Given the description of an element on the screen output the (x, y) to click on. 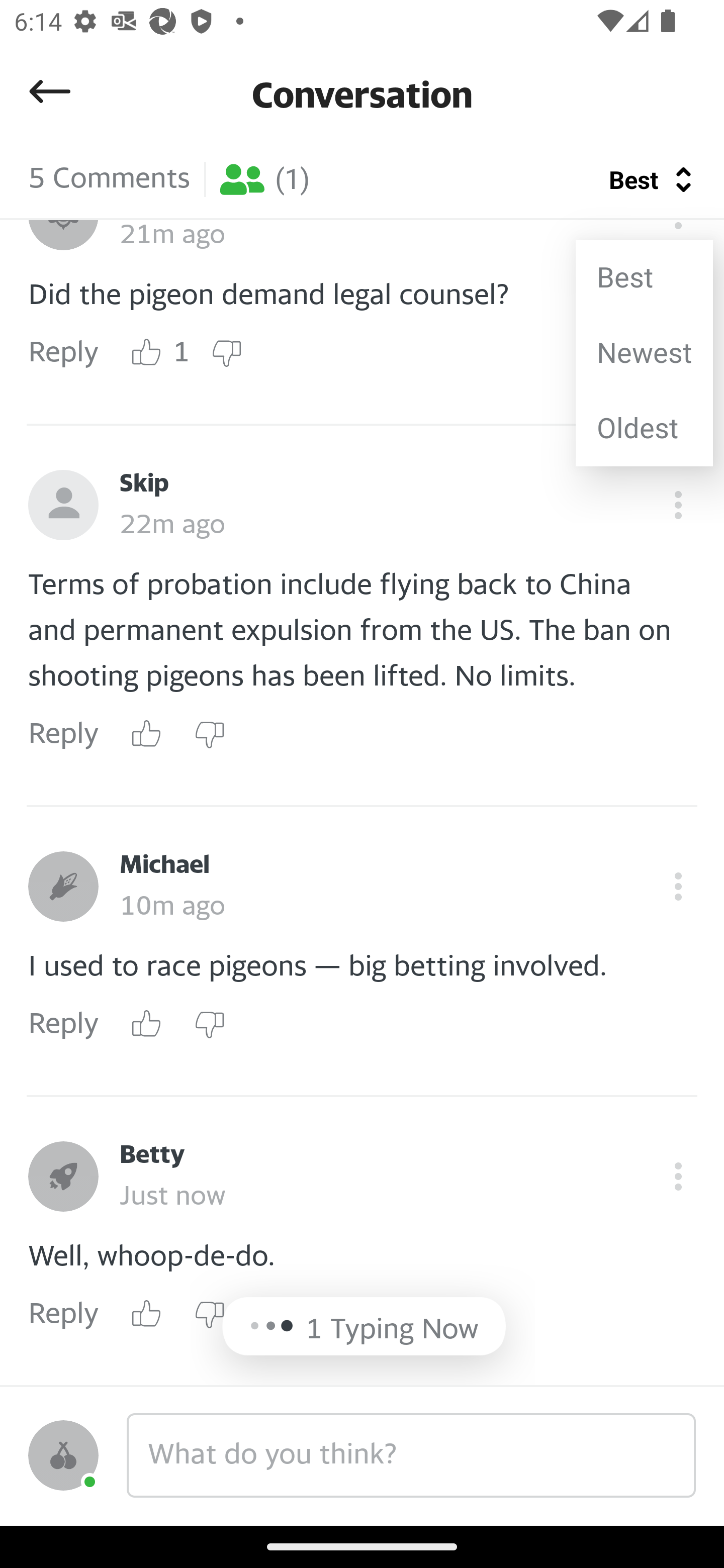
Best (644, 277)
Newest (644, 352)
Oldest (644, 427)
